Given the description of an element on the screen output the (x, y) to click on. 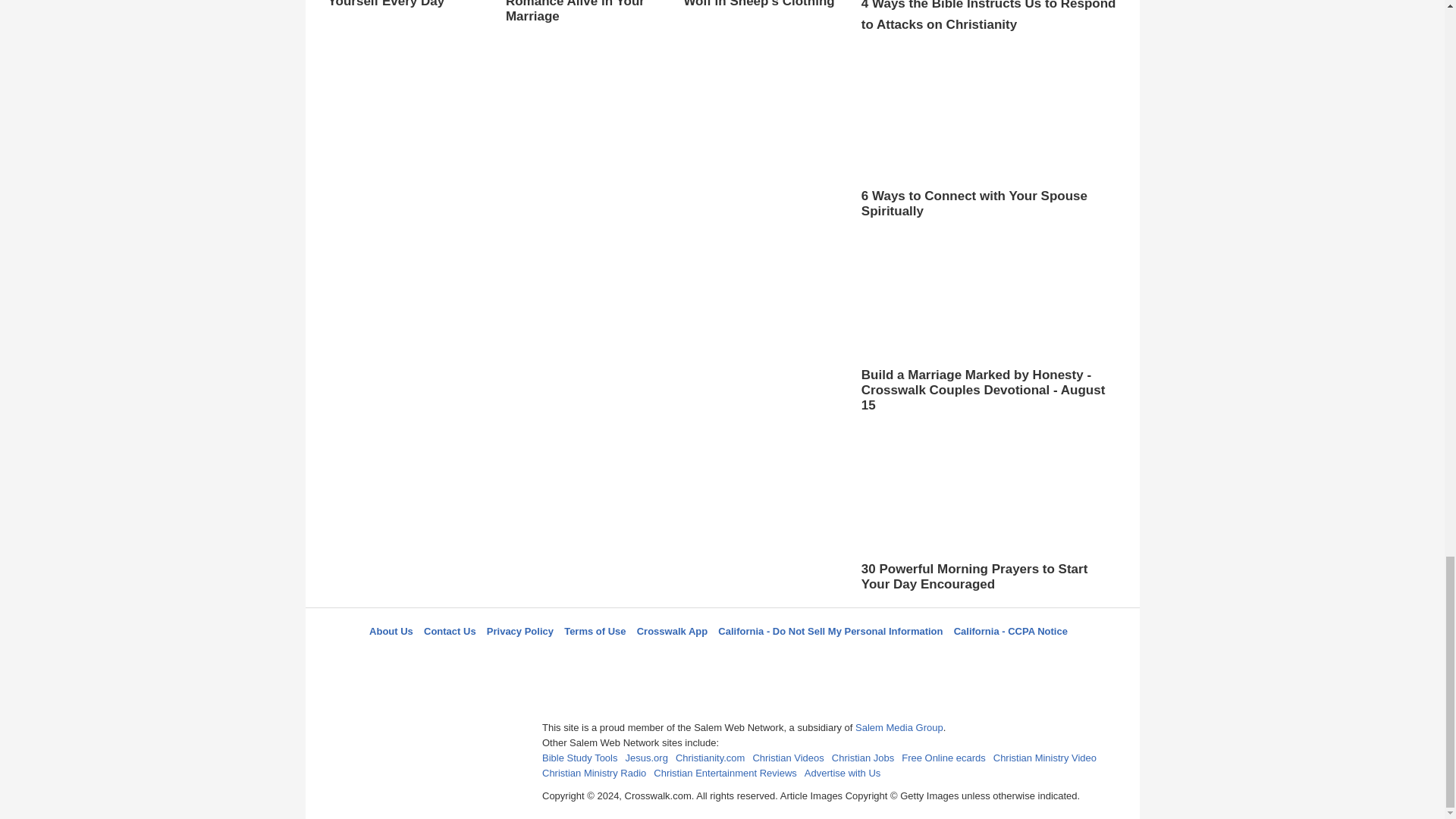
LifeAudio (719, 658)
Facebook (645, 658)
9 Ways to Keep the Romance Alive in Your Marriage (583, 26)
Pinterest (757, 658)
Twitter (683, 658)
5 Prayers to Pray for Yourself Every Day (404, 4)
